Given the description of an element on the screen output the (x, y) to click on. 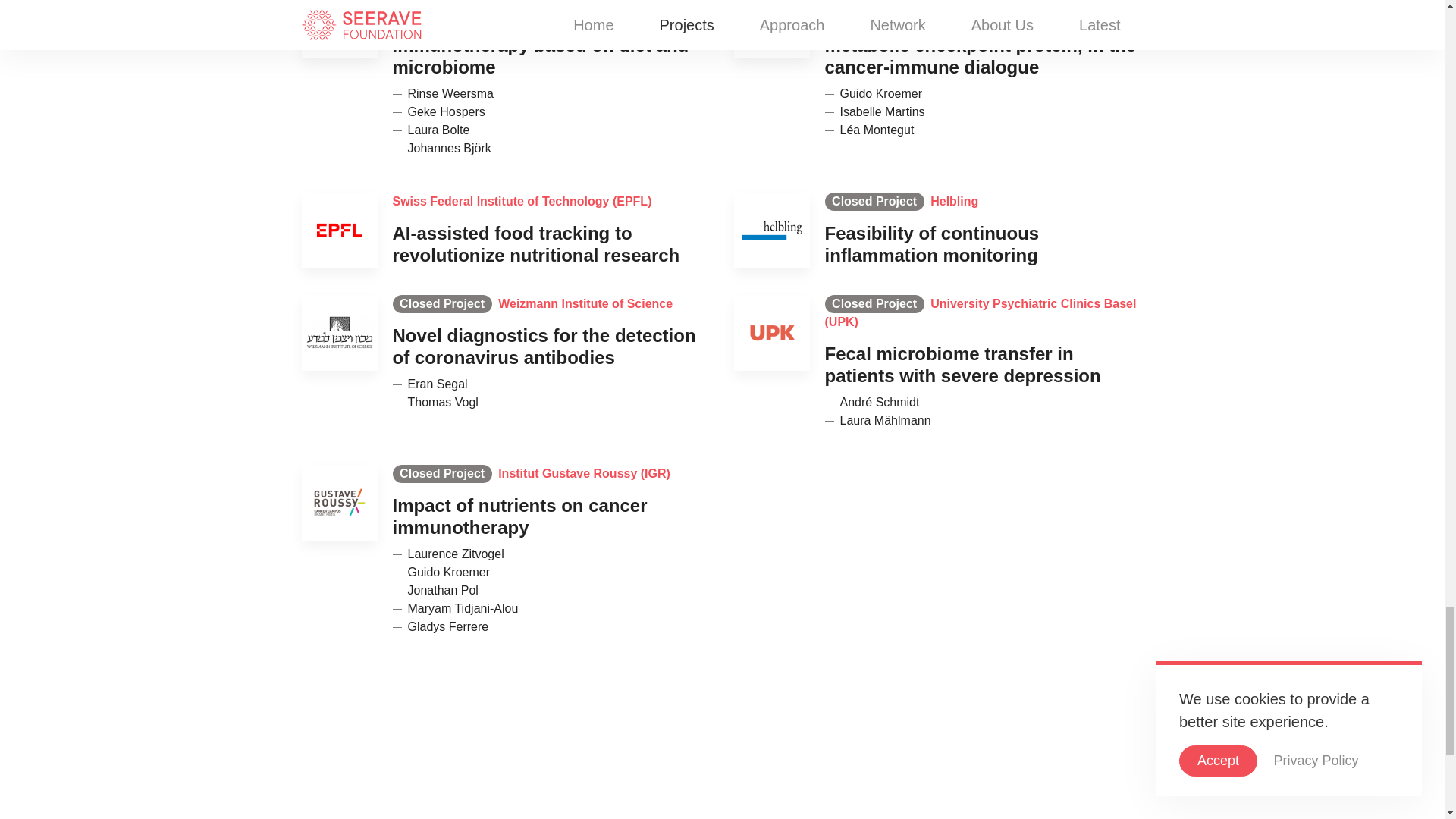
Feasibility of continuous inflammation monitoring (932, 243)
